Given the description of an element on the screen output the (x, y) to click on. 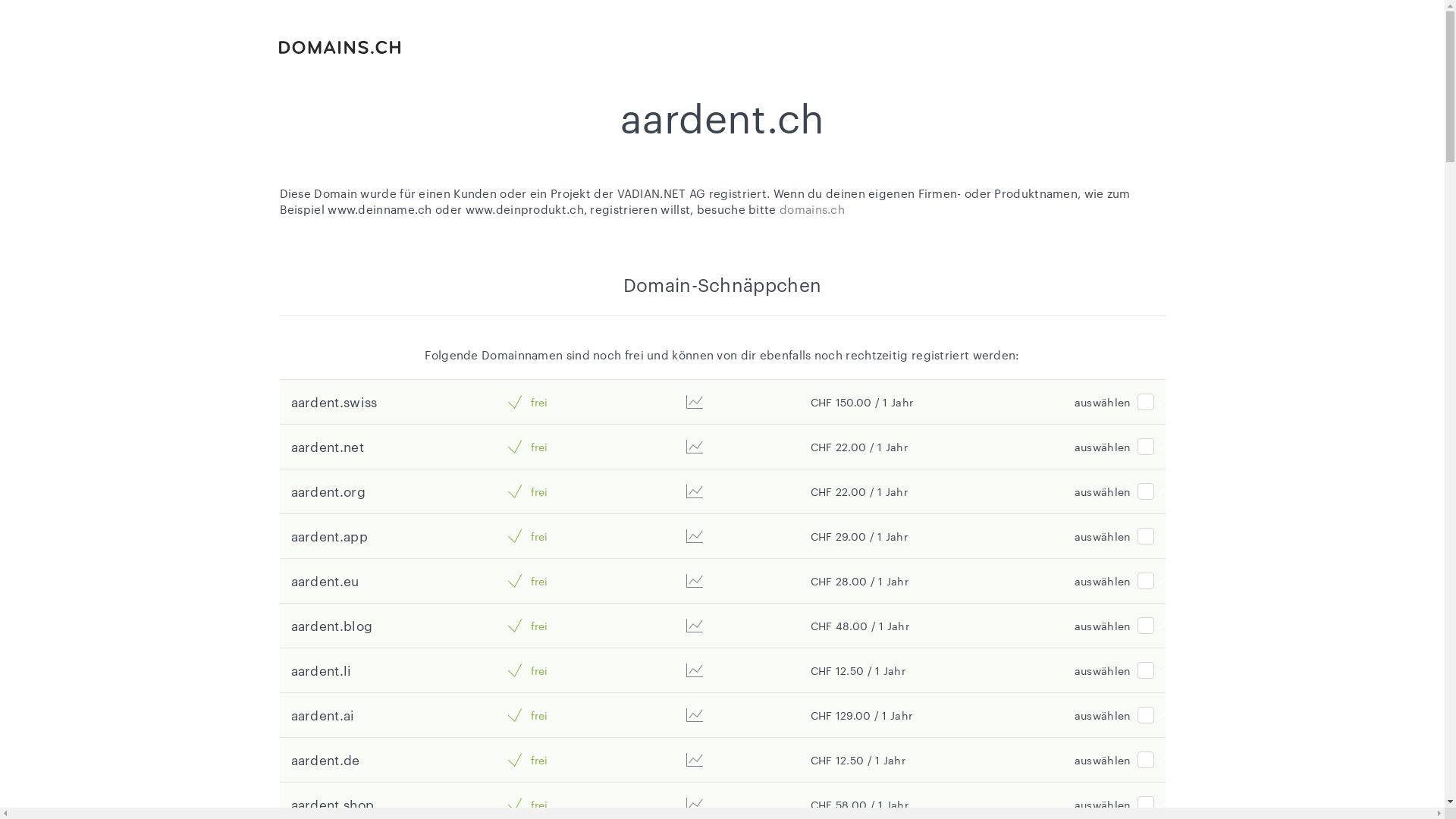
true Element type: text (1145, 446)
true Element type: text (1145, 491)
true Element type: text (1145, 670)
true Element type: text (1145, 580)
domains.ch Element type: text (811, 209)
true Element type: text (1145, 804)
true Element type: text (1145, 401)
true Element type: text (1145, 535)
true Element type: text (1145, 625)
true Element type: text (1145, 714)
true Element type: text (1145, 759)
